Given the description of an element on the screen output the (x, y) to click on. 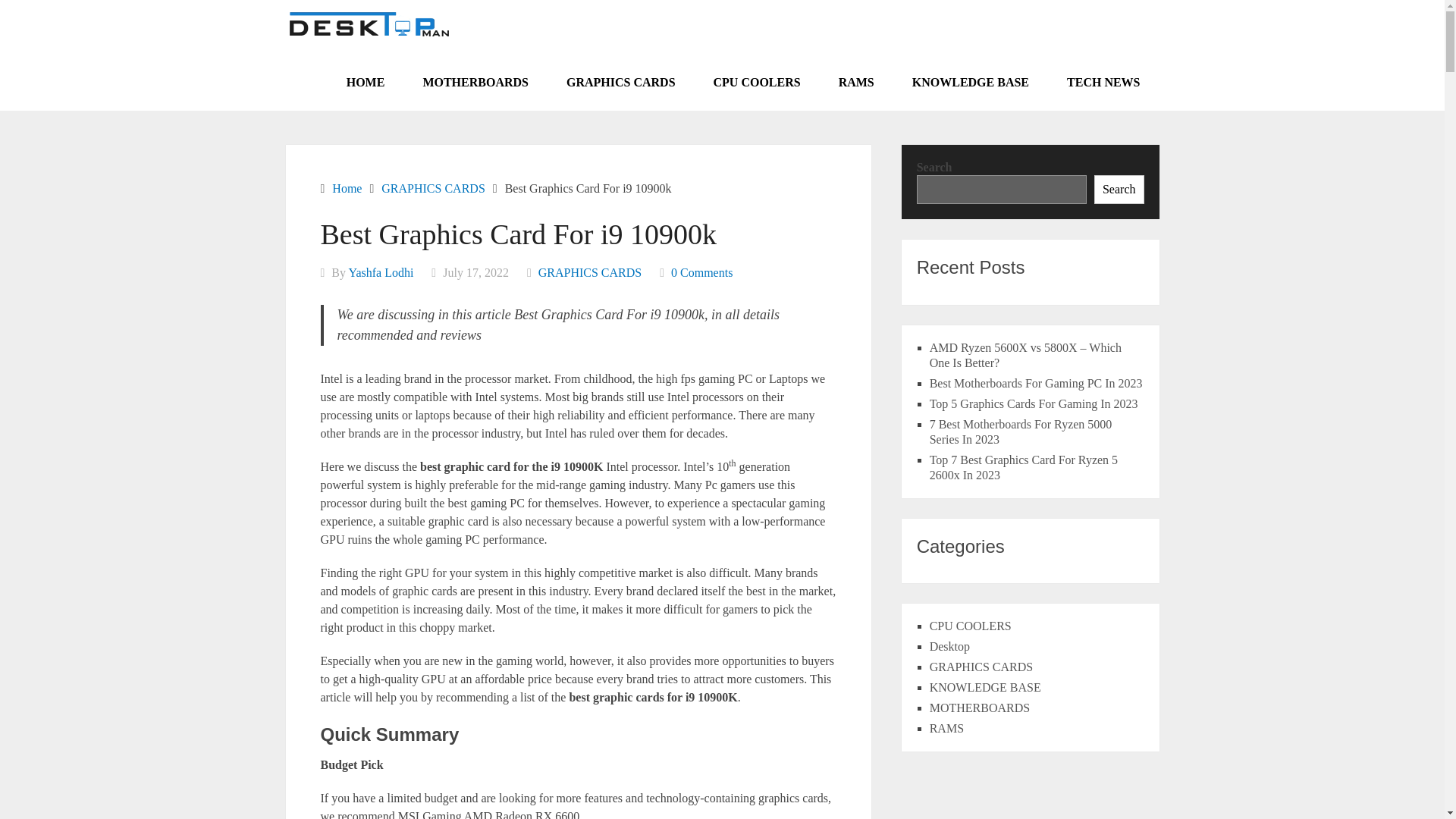
RAMS (856, 82)
MOTHERBOARDS (475, 82)
TECH NEWS (1103, 82)
CPU COOLERS (756, 82)
Posts by Yashfa Lodhi (380, 272)
Yashfa Lodhi (380, 272)
GRAPHICS CARDS (620, 82)
HOME (365, 82)
KNOWLEDGE BASE (970, 82)
Home (346, 187)
0 Comments (701, 272)
GRAPHICS CARDS (590, 272)
GRAPHICS CARDS (432, 187)
